Given the description of an element on the screen output the (x, y) to click on. 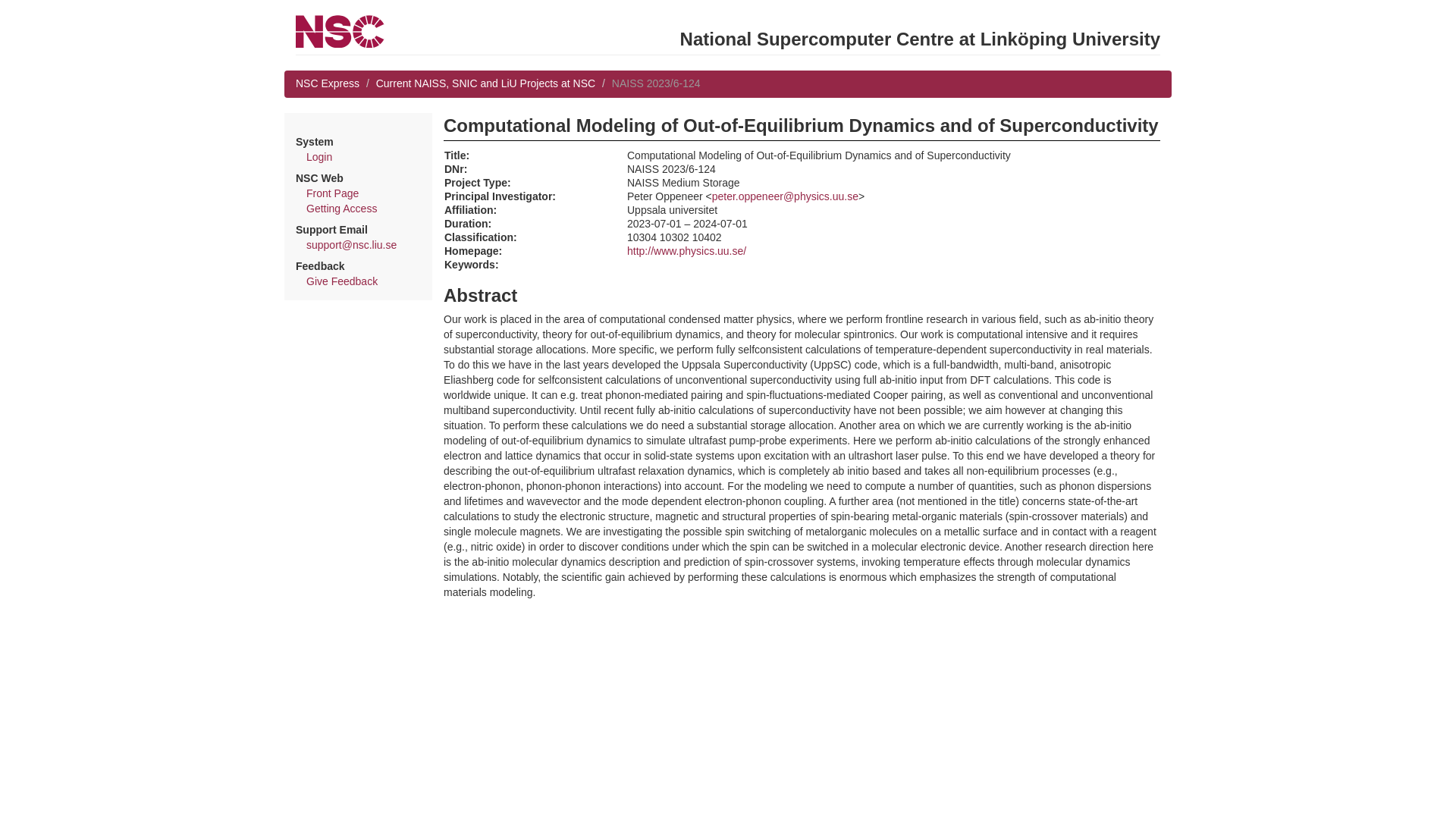
Getting Access (341, 208)
Login (318, 156)
NSC Express (327, 82)
Give Feedback (341, 281)
Current NAISS, SNIC and LiU Projects at NSC (485, 82)
Front Page (331, 193)
